Given the description of an element on the screen output the (x, y) to click on. 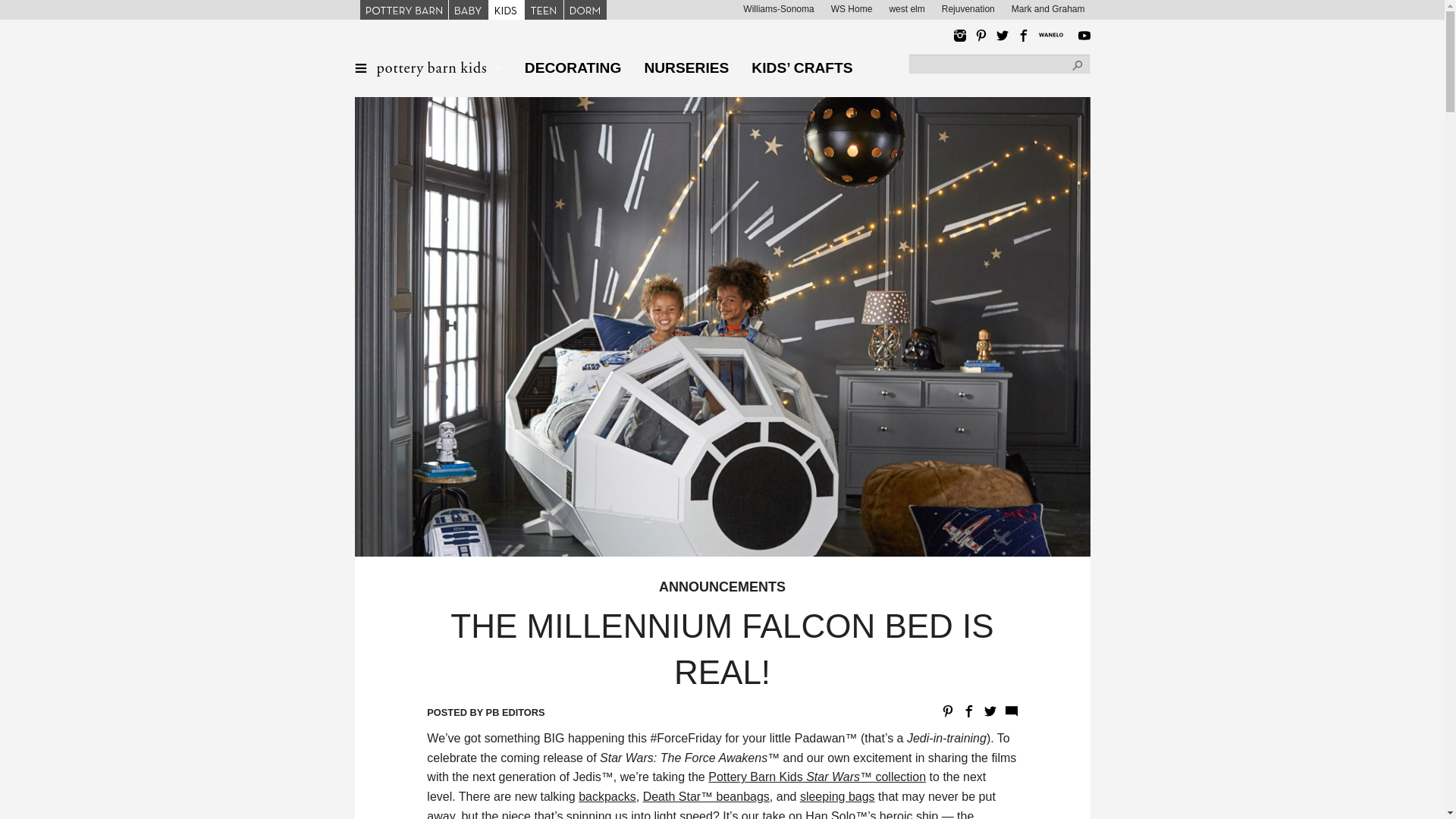
HOME (427, 67)
KIDS (504, 9)
BABY (467, 9)
NURSERIES (685, 67)
Williams-Sonoma (777, 9)
west elm (906, 9)
ANNOUNCEMENTS (722, 586)
POTTERY BARN (402, 9)
DORM (585, 9)
Mark and Graham (1047, 9)
Rejuvenation (968, 9)
Wanelo (1053, 35)
TEEN (543, 9)
WS Home (851, 9)
DECORATING (573, 67)
